Given the description of an element on the screen output the (x, y) to click on. 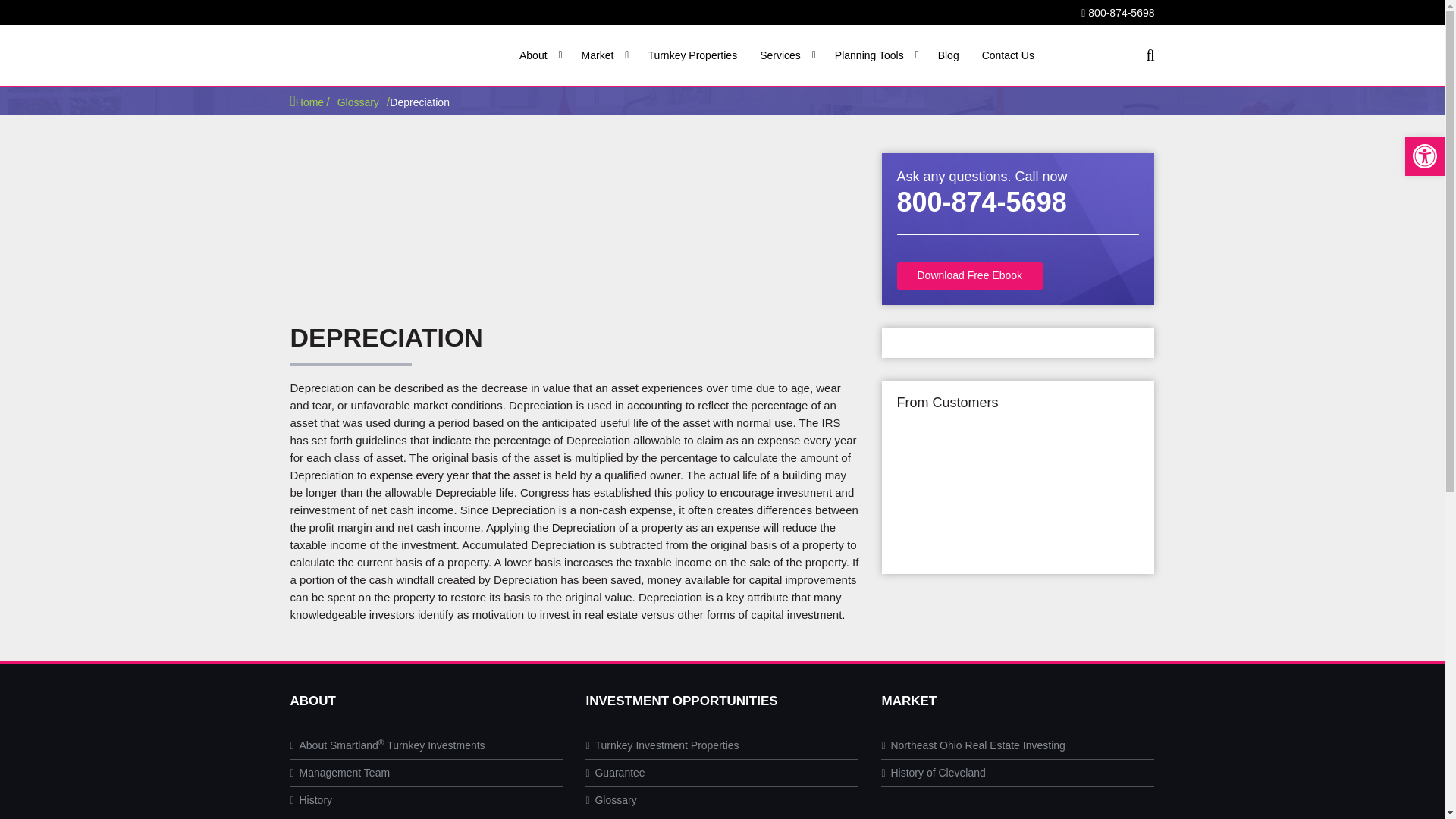
Services (783, 55)
Home (306, 102)
Services (783, 55)
Northeast Ohio Real Estate Investing (972, 745)
Download Free Ebook (969, 275)
Glossary (357, 102)
Accessibility Tools (1424, 156)
Contact Us (1006, 55)
Turnkey Investment Properties (661, 745)
Turnkey Properties (690, 55)
